Given the description of an element on the screen output the (x, y) to click on. 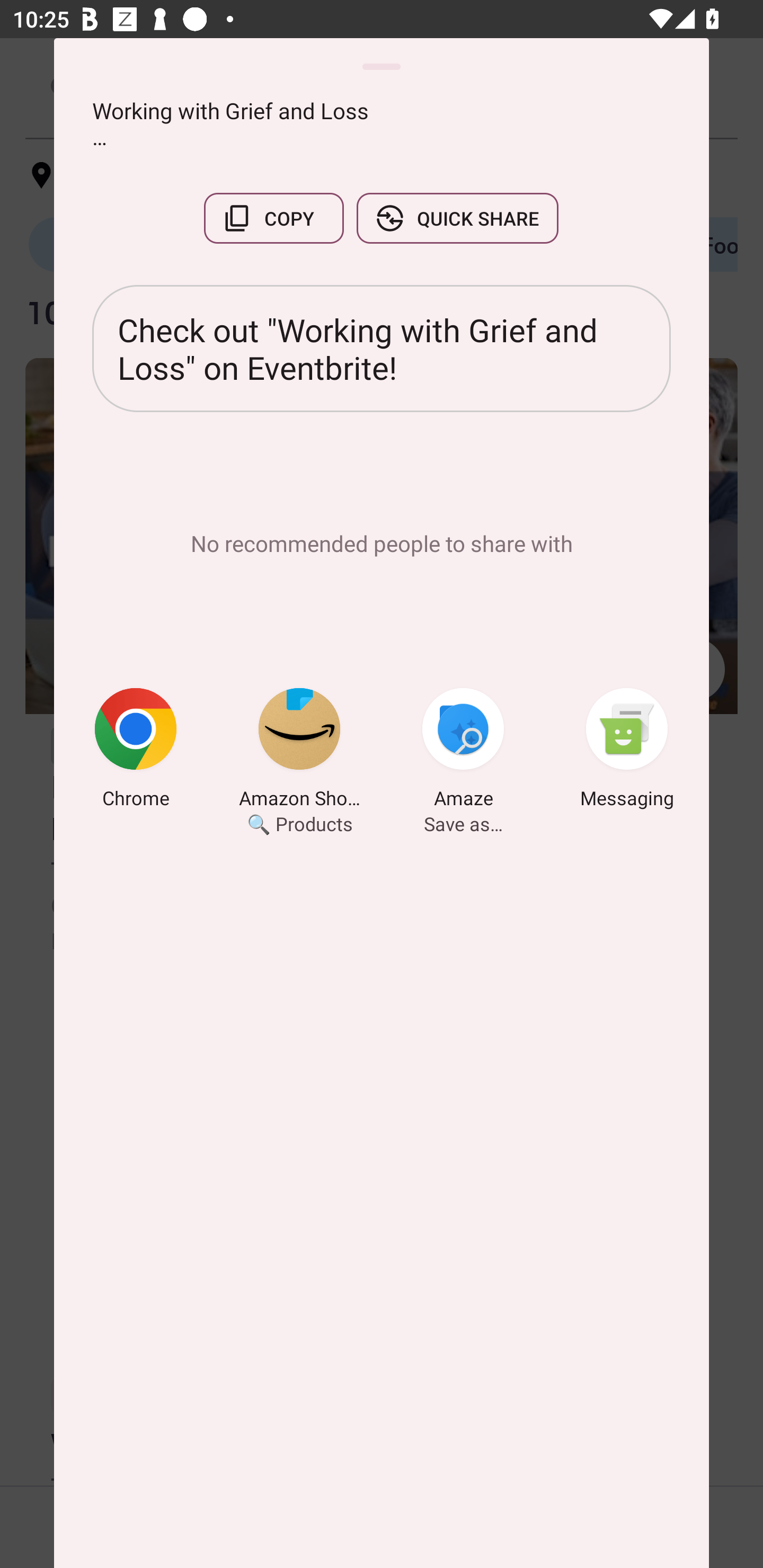
COPY (273, 218)
QUICK SHARE (457, 218)
Chrome (135, 751)
Amazon Shopping 🔍 Products (299, 751)
Amaze Save as… (463, 751)
Messaging (626, 751)
